Given the description of an element on the screen output the (x, y) to click on. 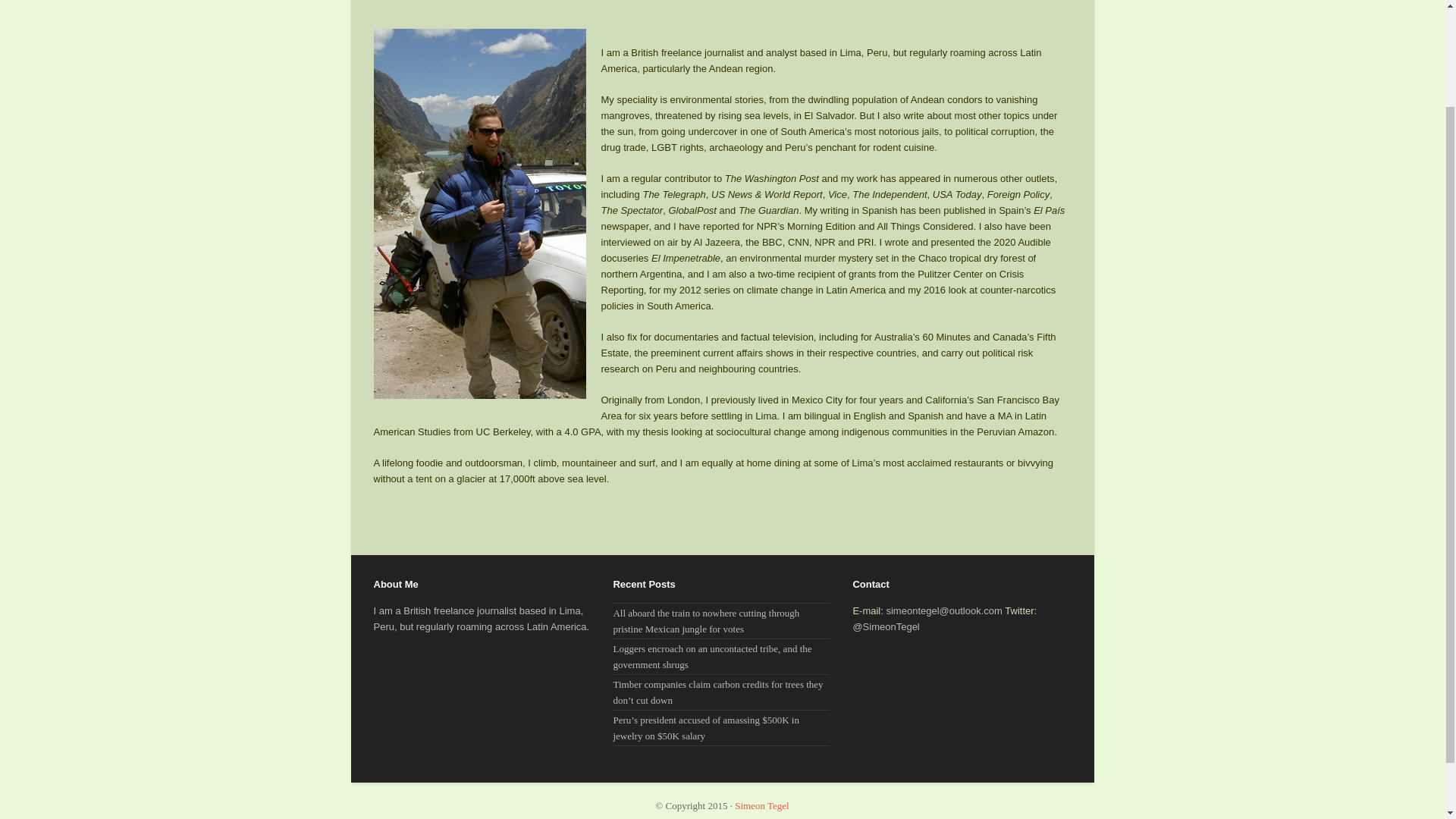
Simeon Tegel (762, 805)
Simeon Tegel (762, 805)
